Given the description of an element on the screen output the (x, y) to click on. 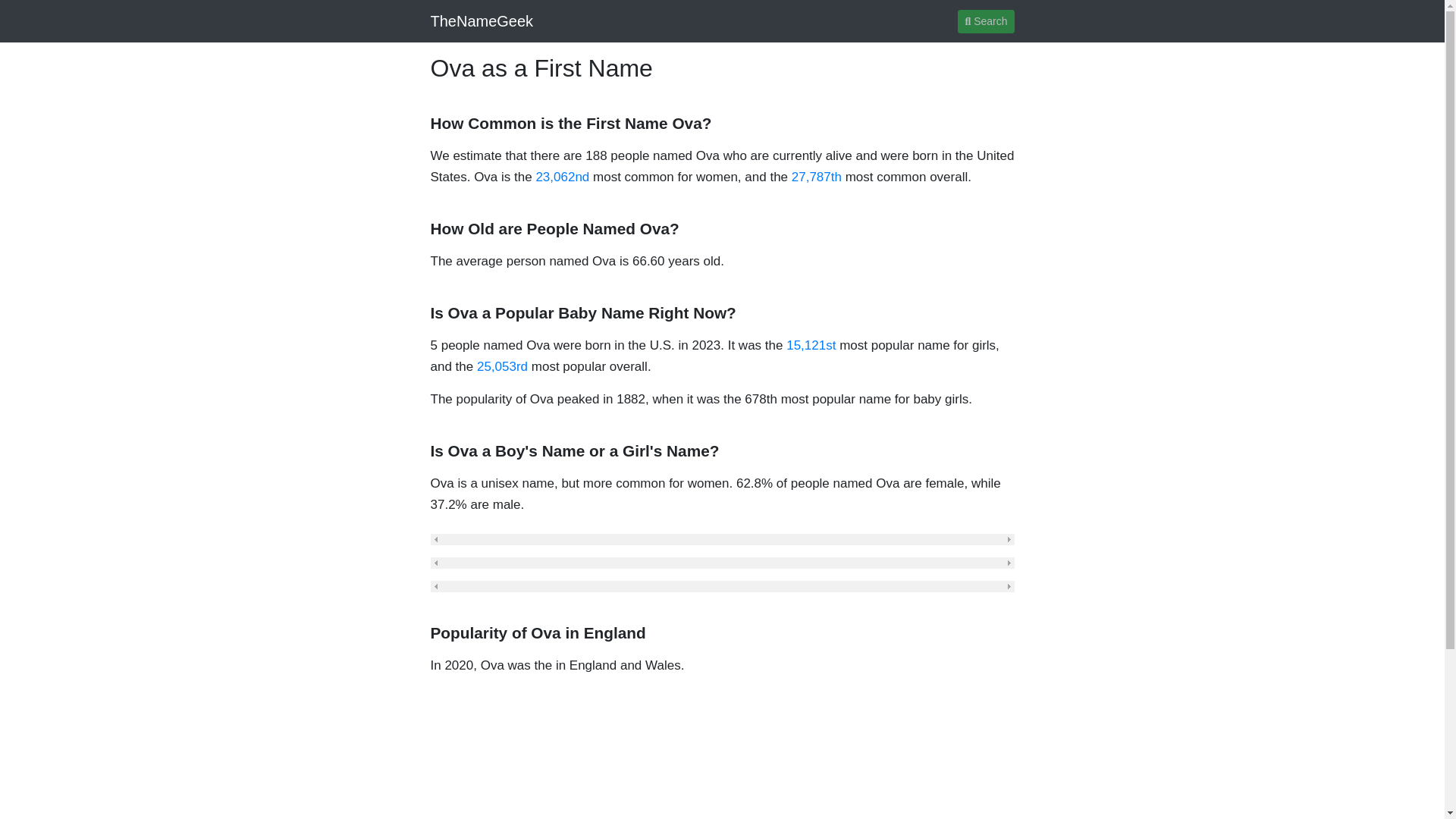
Search (985, 20)
27,787th (816, 176)
23,062nd (562, 176)
25,053rd (502, 366)
TheNameGeek (482, 20)
15,121st (810, 345)
